Given the description of an element on the screen output the (x, y) to click on. 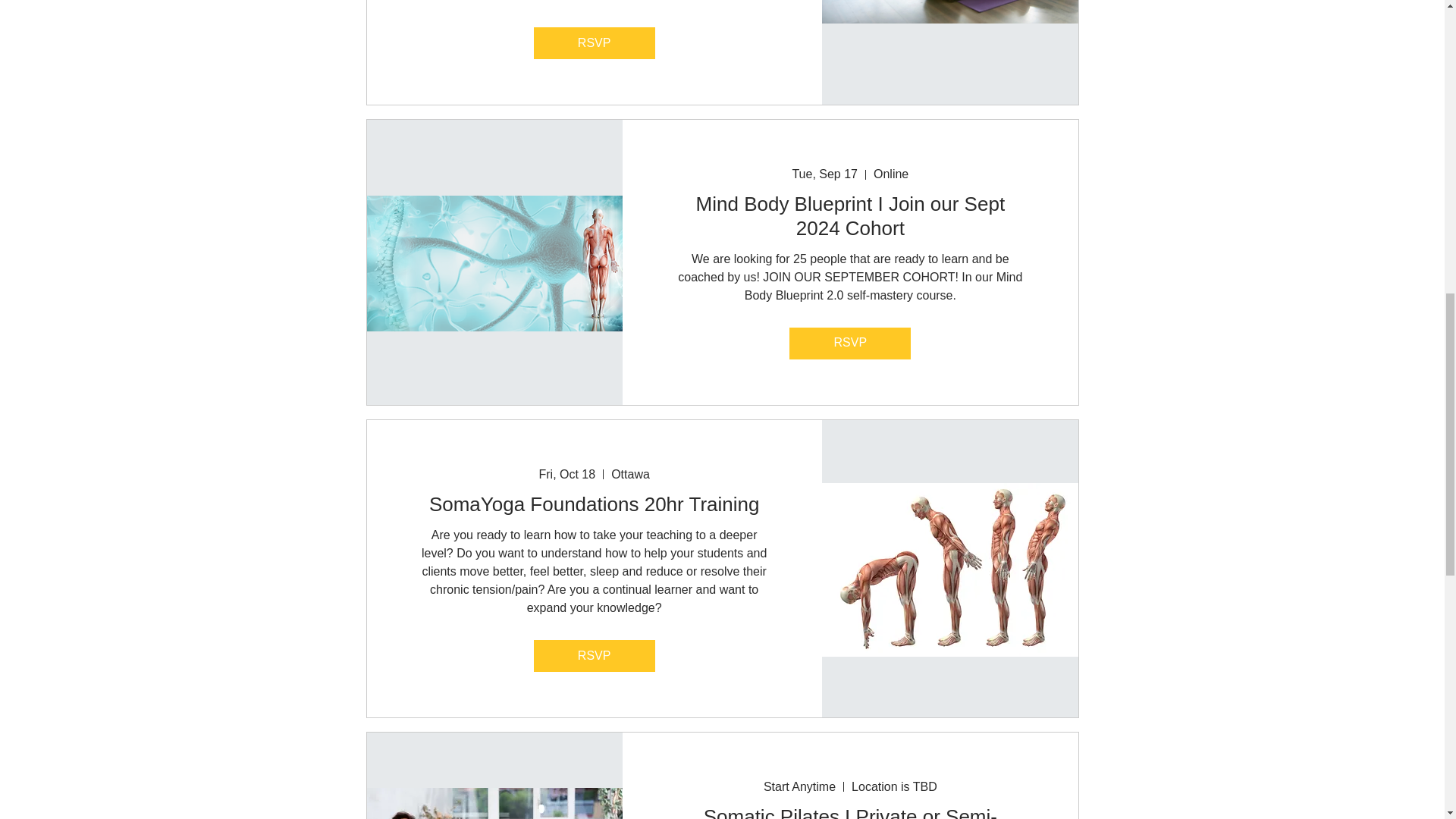
RSVP (850, 343)
RSVP (594, 42)
SomaYoga Foundations 20hr Training (594, 504)
Somatic Pilates I Private or Semi-Private (850, 812)
Mind Body Blueprint I Join our Sept 2024 Cohort (850, 215)
RSVP (594, 655)
